Given the description of an element on the screen output the (x, y) to click on. 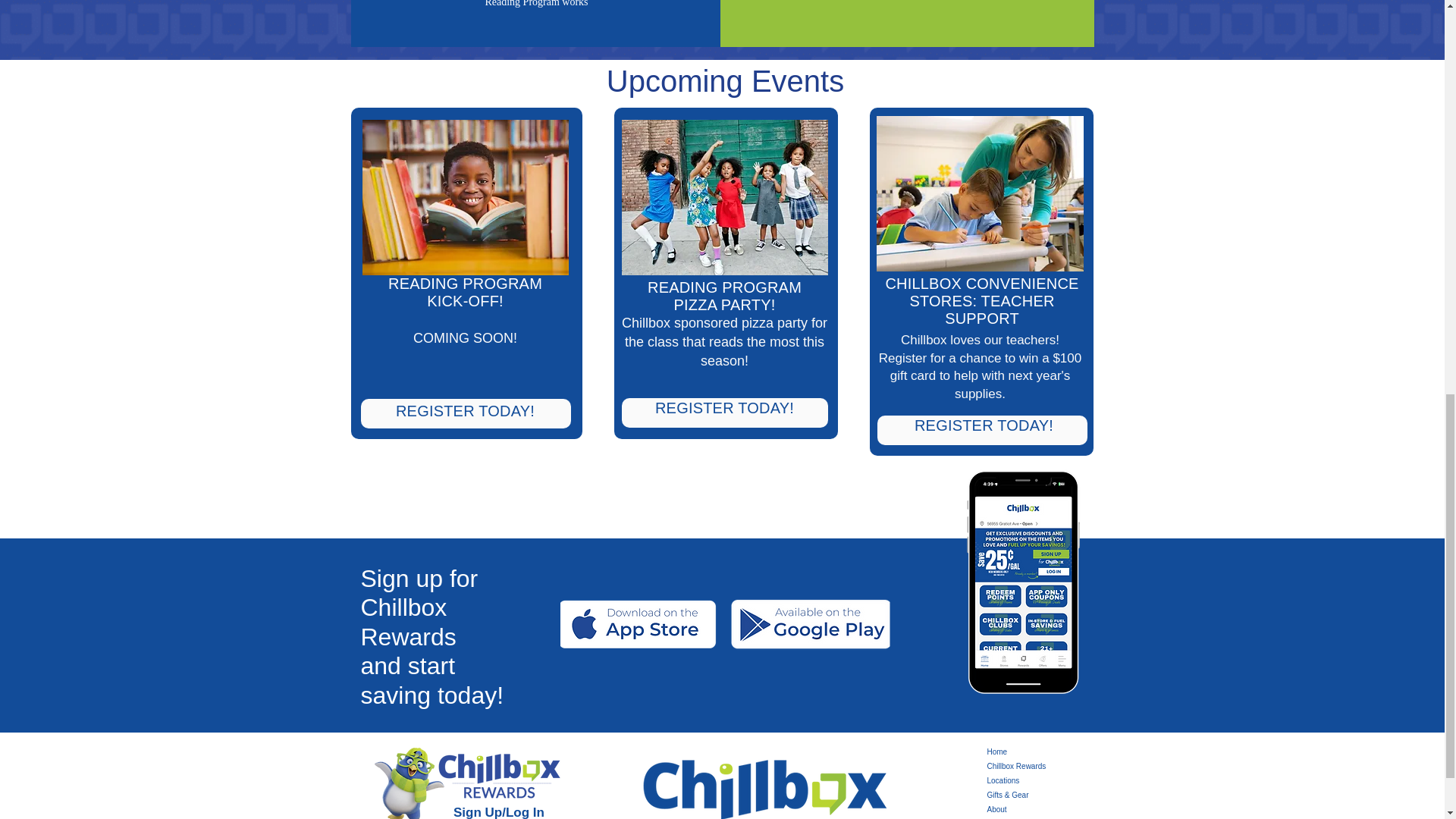
Upcoming Events (725, 81)
REGISTER TODAY! (983, 425)
REGISTER TODAY! (465, 410)
REGISTER TODAY! (724, 407)
